Given the description of an element on the screen output the (x, y) to click on. 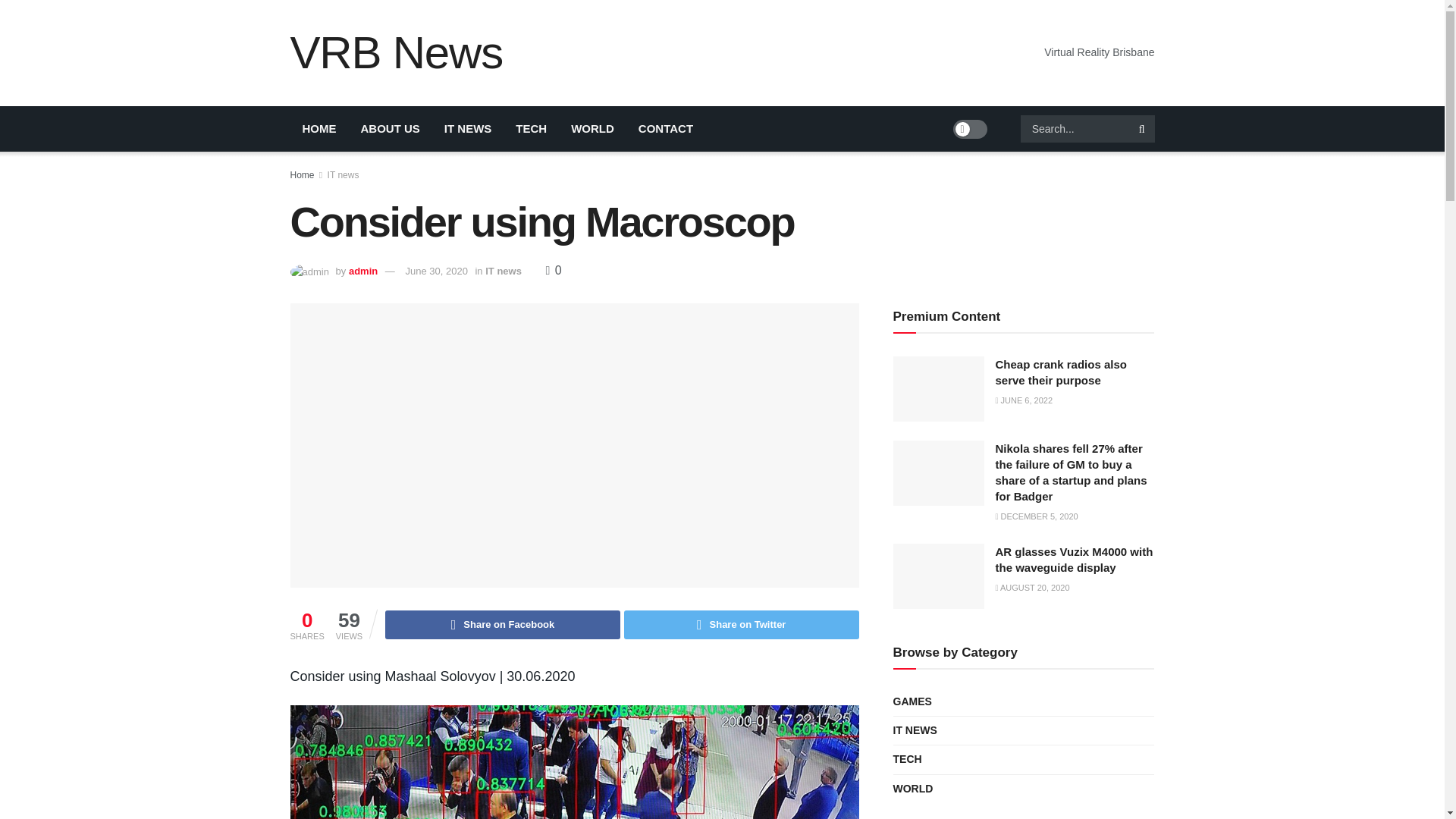
ABOUT US (390, 128)
admin (363, 270)
Share on Facebook (502, 624)
June 30, 2020 (435, 270)
Home (301, 174)
TECH (531, 128)
0 (554, 269)
WORLD (592, 128)
IT NEWS (467, 128)
CONTACT (665, 128)
